Given the description of an element on the screen output the (x, y) to click on. 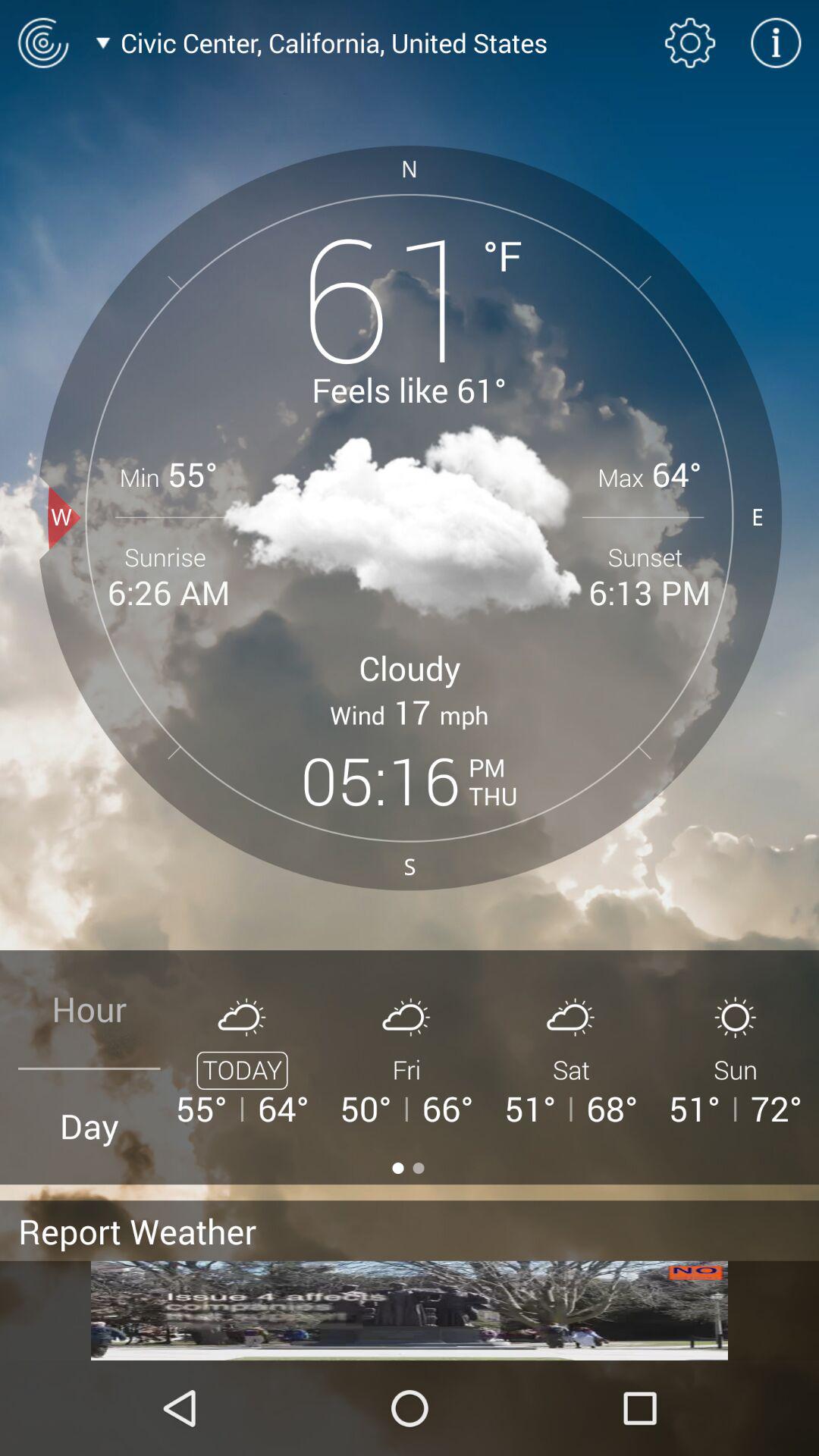
open settings (690, 42)
